Given the description of an element on the screen output the (x, y) to click on. 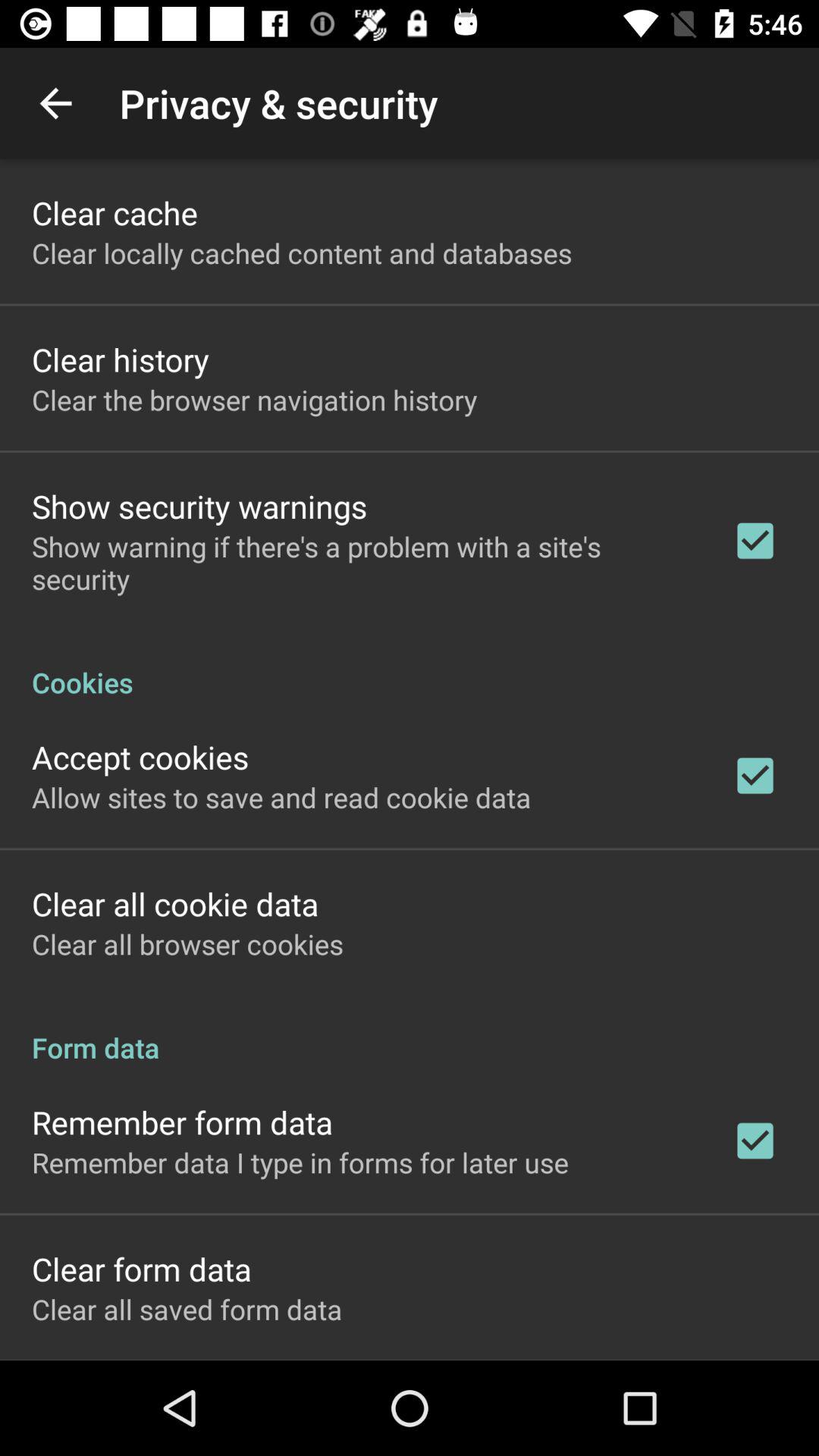
choose the show warning if app (361, 562)
